Given the description of an element on the screen output the (x, y) to click on. 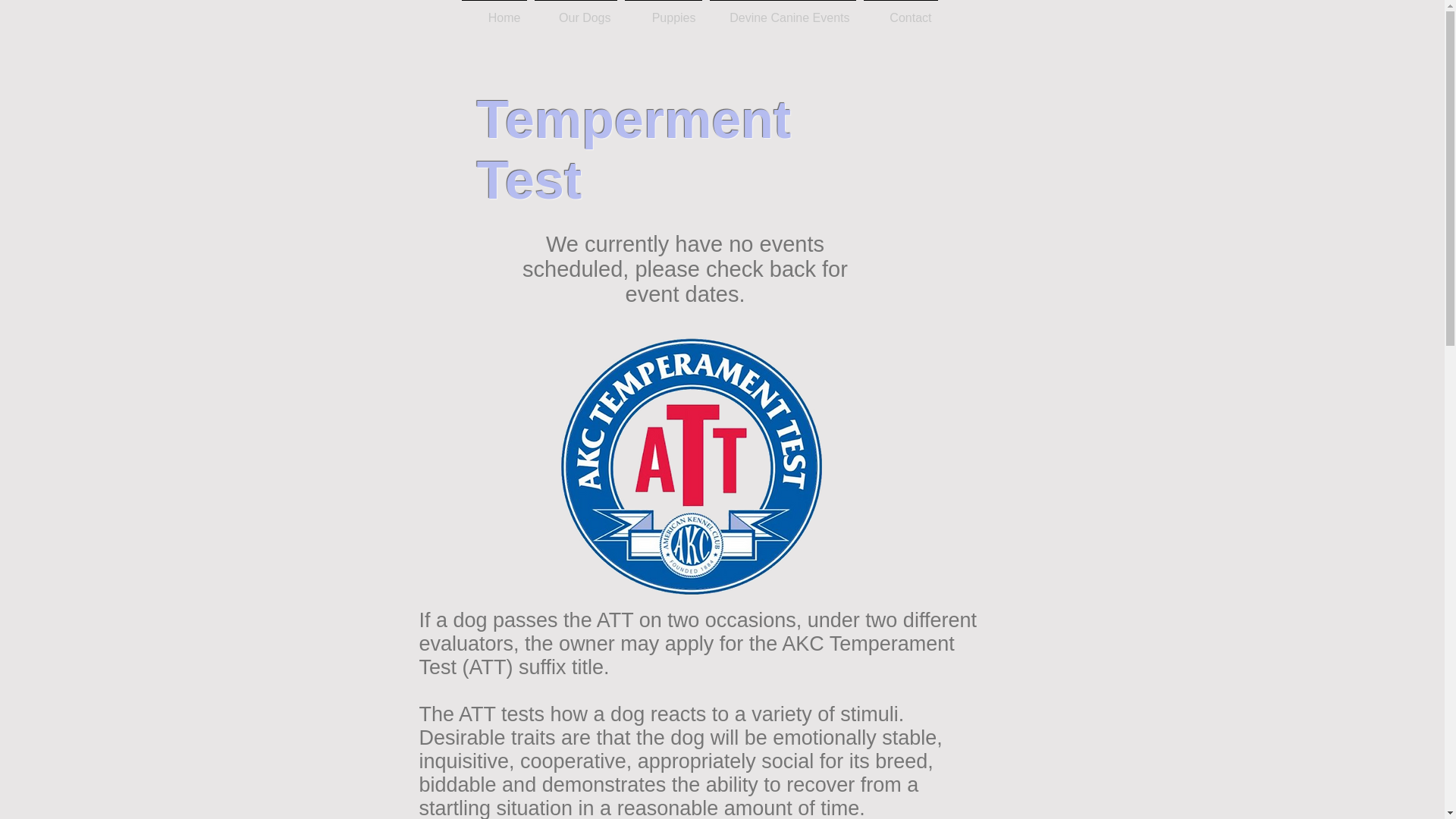
Devine Canine Events (781, 11)
Our Dogs (576, 11)
Puppies (662, 11)
Home (494, 11)
Contact (901, 11)
